Given the description of an element on the screen output the (x, y) to click on. 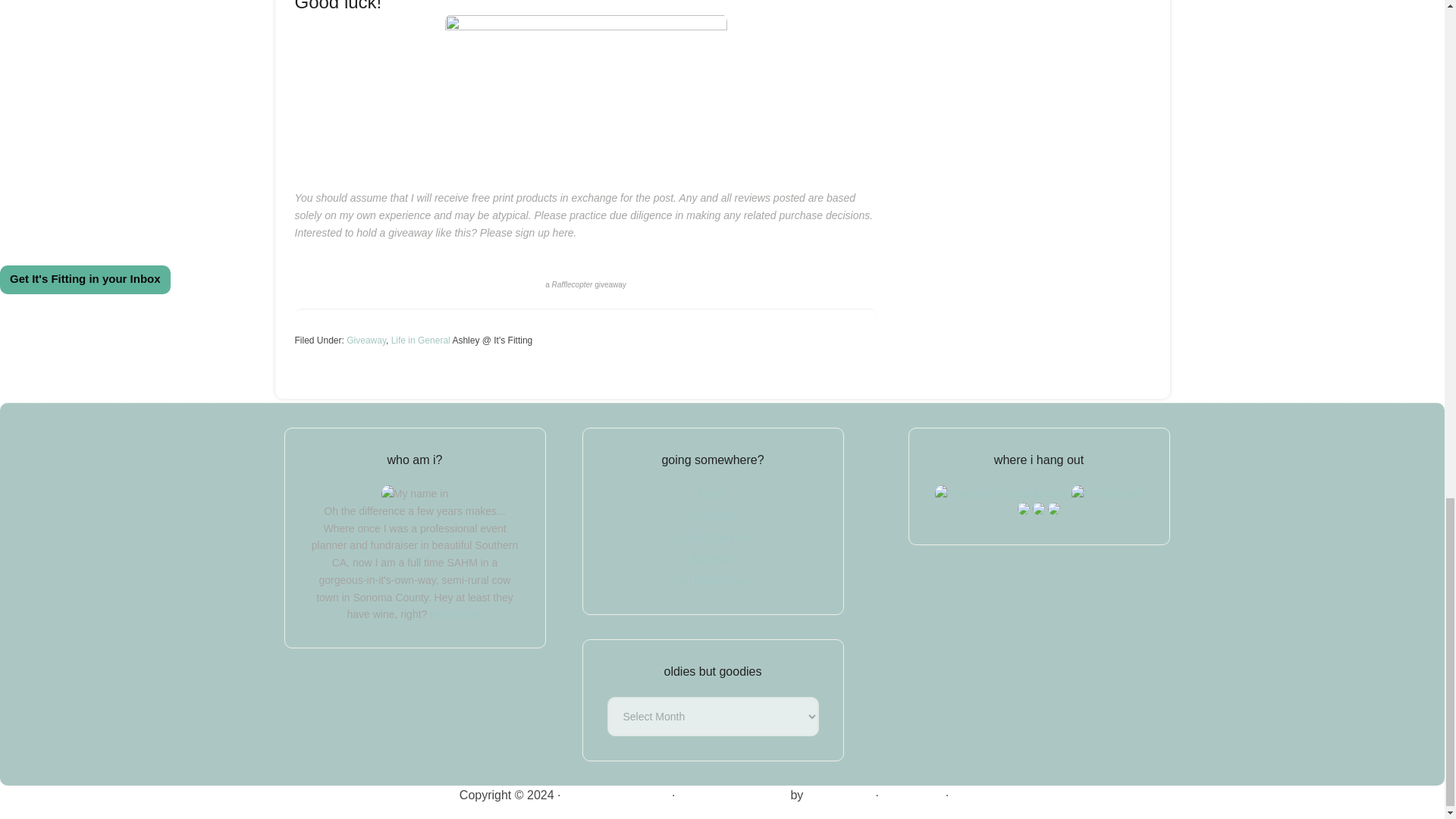
Home (712, 493)
My All-Time Favs (713, 537)
About Me (712, 515)
Sponsors (712, 558)
a Rafflecopter giveaway (585, 284)
Girl About Town (712, 580)
Giveaway (365, 339)
Life in General (420, 339)
Read More (455, 613)
businesscard-diecut (585, 92)
